Given the description of an element on the screen output the (x, y) to click on. 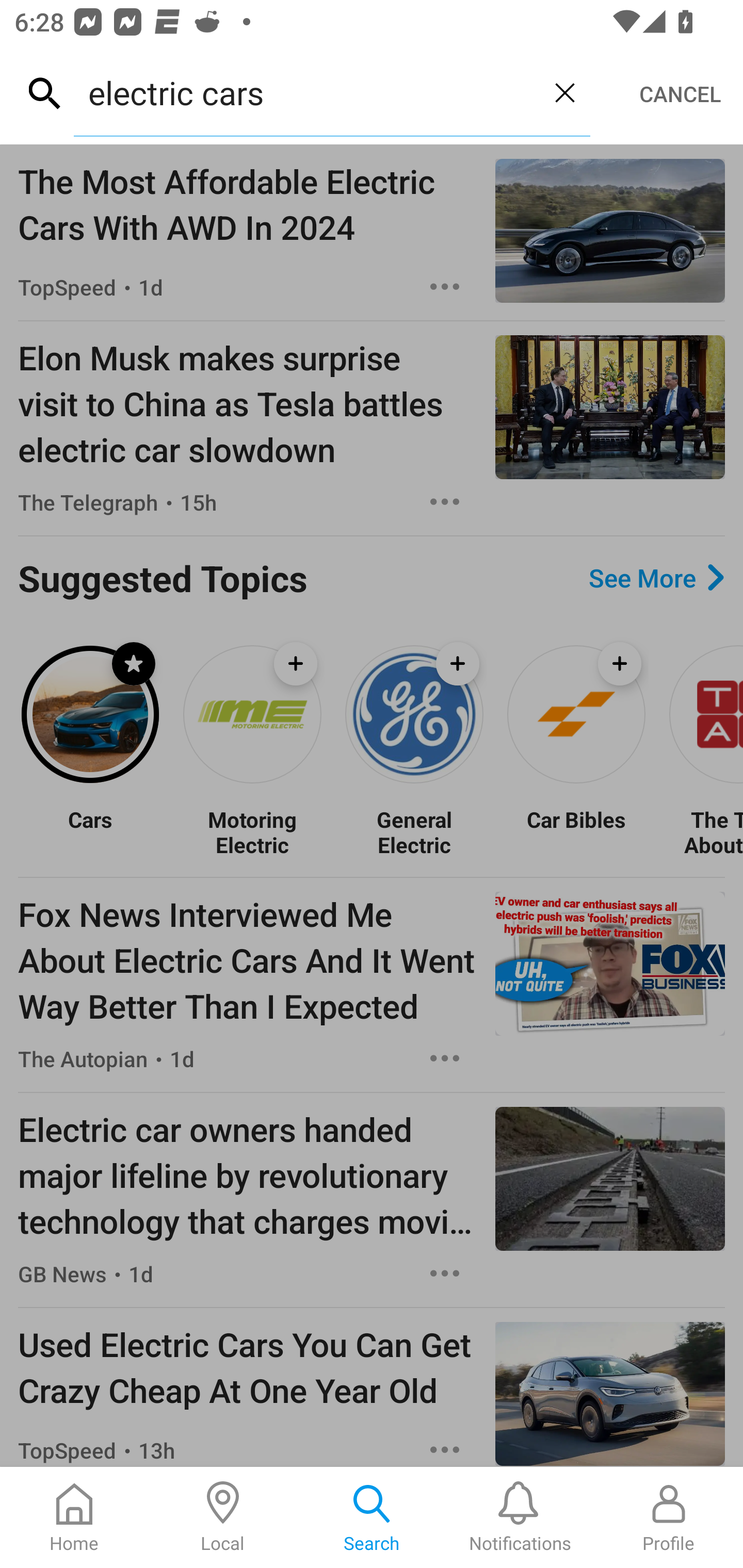
Clear query (564, 92)
CANCEL (680, 93)
electric cars (306, 92)
Options (444, 286)
Options (444, 501)
See More (656, 577)
Cars (89, 831)
Motoring Electric (251, 831)
General Electric (413, 831)
Car Bibles (575, 831)
The Truth About Cars (704, 831)
Options (444, 1058)
Options (444, 1273)
Options (444, 1447)
Home (74, 1517)
Local (222, 1517)
Notifications (519, 1517)
Profile (668, 1517)
